Given the description of an element on the screen output the (x, y) to click on. 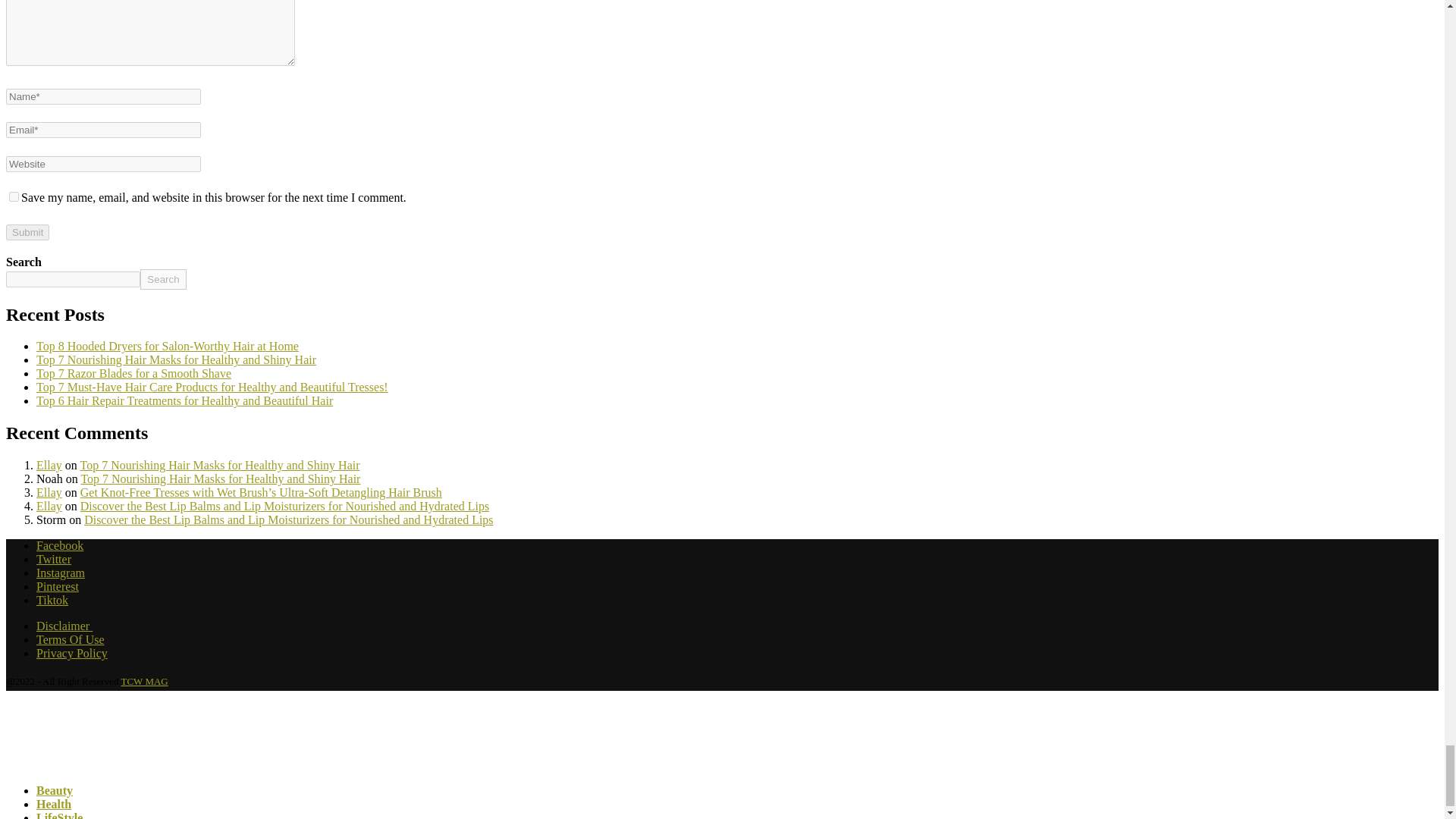
yes (13, 196)
Submit (27, 232)
